Given the description of an element on the screen output the (x, y) to click on. 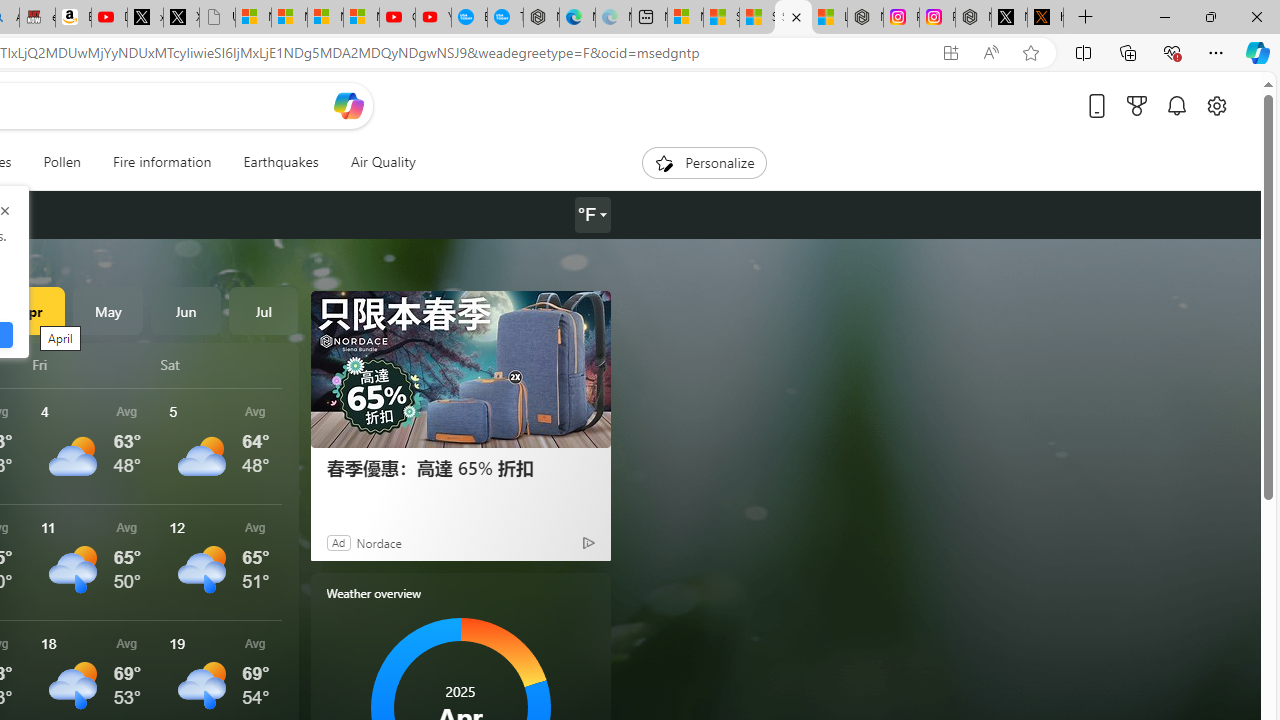
YouTube Kids - An App Created for Kids to Explore Content (433, 17)
See More Details (221, 561)
Open Copilot (347, 105)
Nordace (@NordaceOfficial) / X (1009, 17)
Jun (186, 310)
Pollen (61, 162)
